Given the description of an element on the screen output the (x, y) to click on. 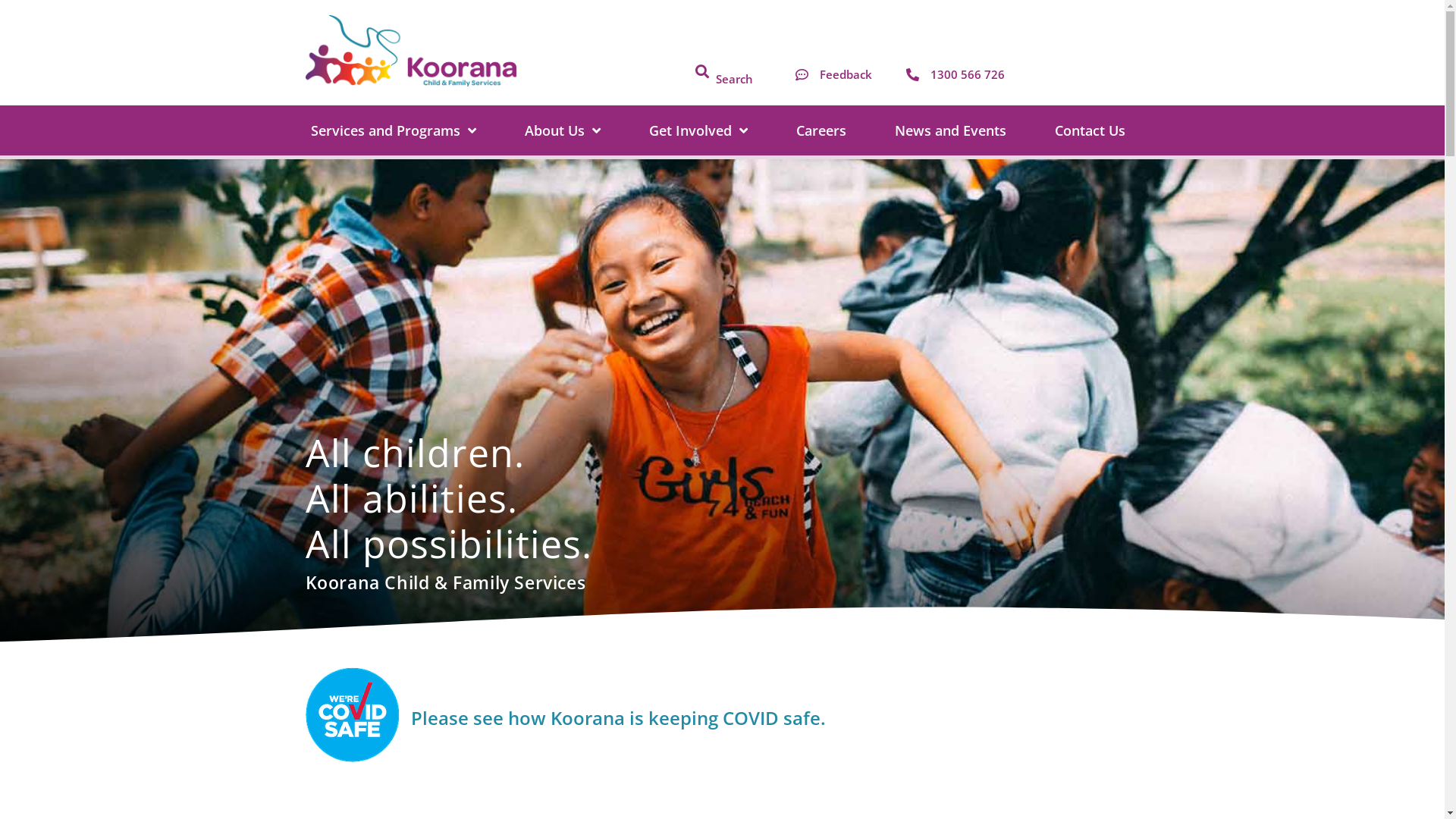
Get Involved Element type: text (697, 129)
Contact Us Element type: text (1089, 129)
News and Events Element type: text (949, 129)
1300 566 726 Element type: text (953, 74)
Feedback Element type: text (832, 74)
Services and Programs Element type: text (392, 129)
About Us Element type: text (561, 129)
Please see how Koorana is keeping COVID safe. Element type: text (618, 717)
Careers Element type: text (820, 129)
